Given the description of an element on the screen output the (x, y) to click on. 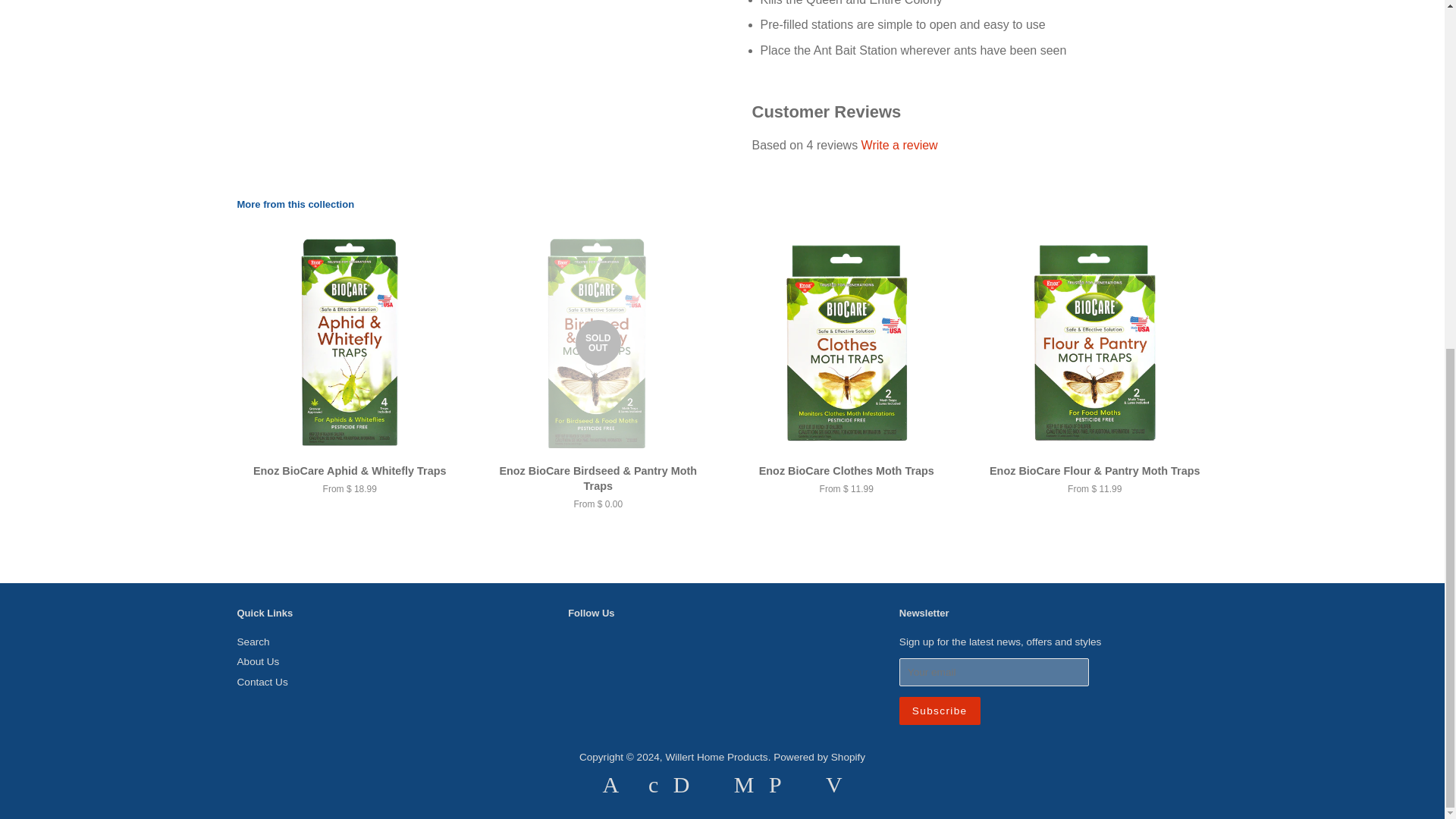
Write a review (899, 144)
Subscribe (939, 710)
